Given the description of an element on the screen output the (x, y) to click on. 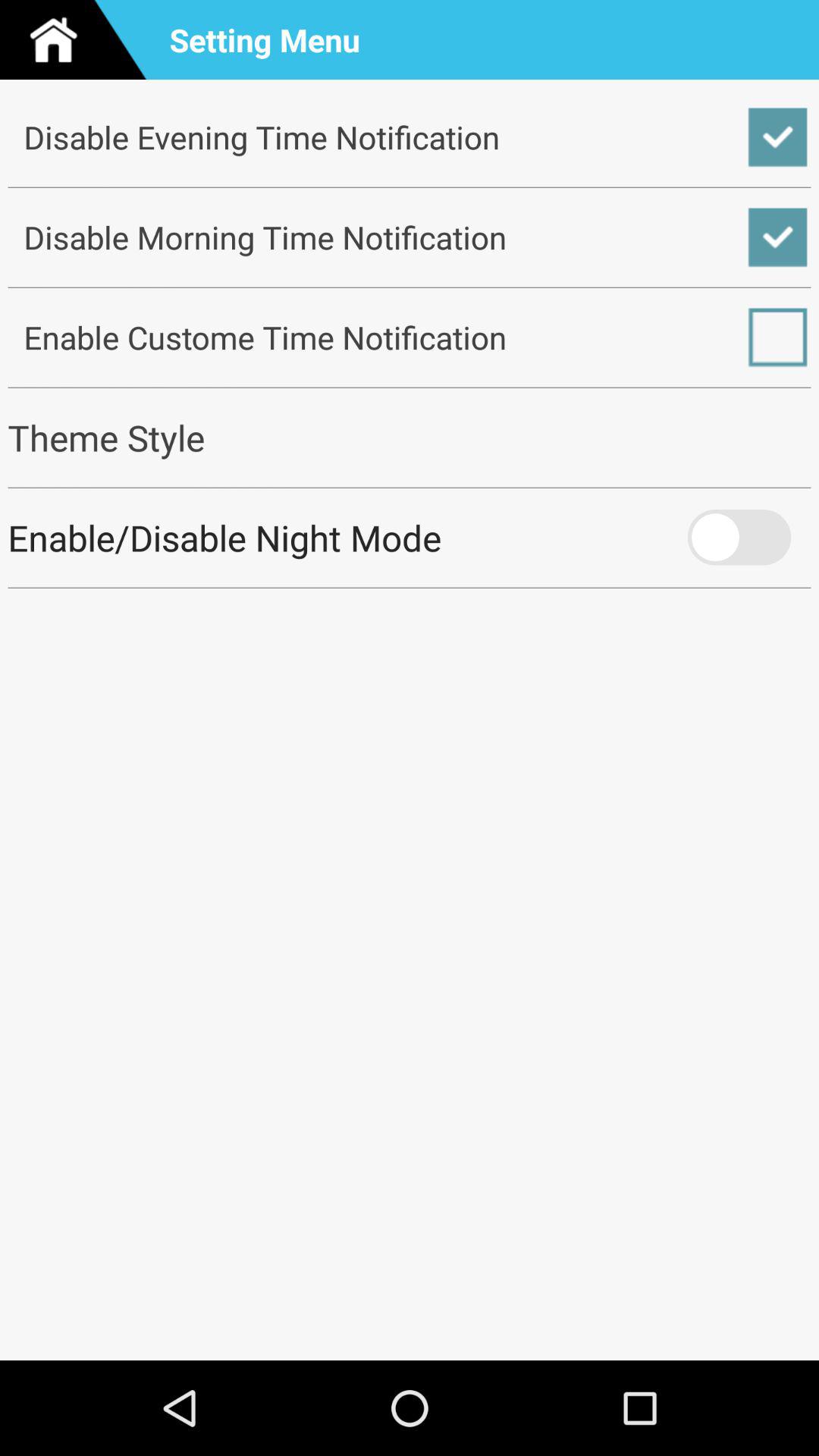
turn off item above disable evening time icon (79, 39)
